Given the description of an element on the screen output the (x, y) to click on. 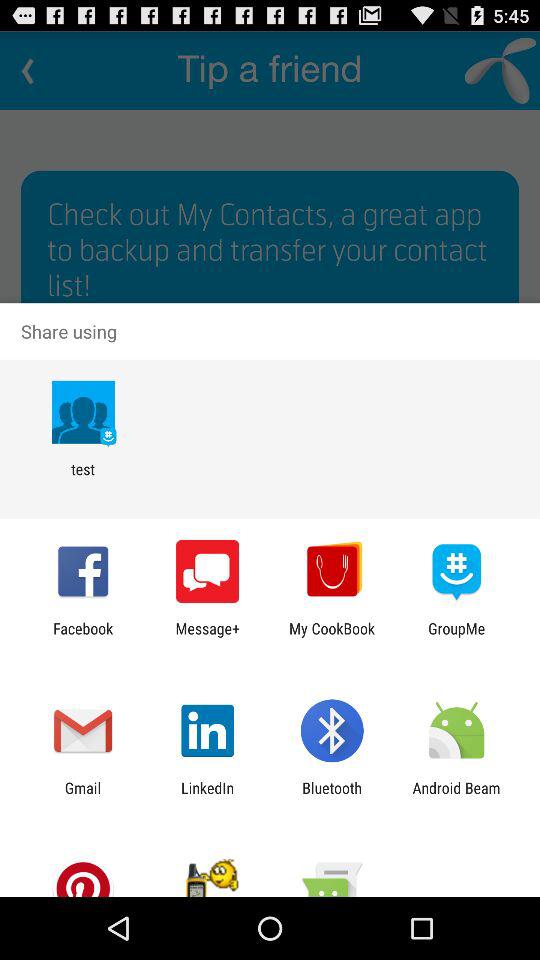
turn on gmail (82, 796)
